Given the description of an element on the screen output the (x, y) to click on. 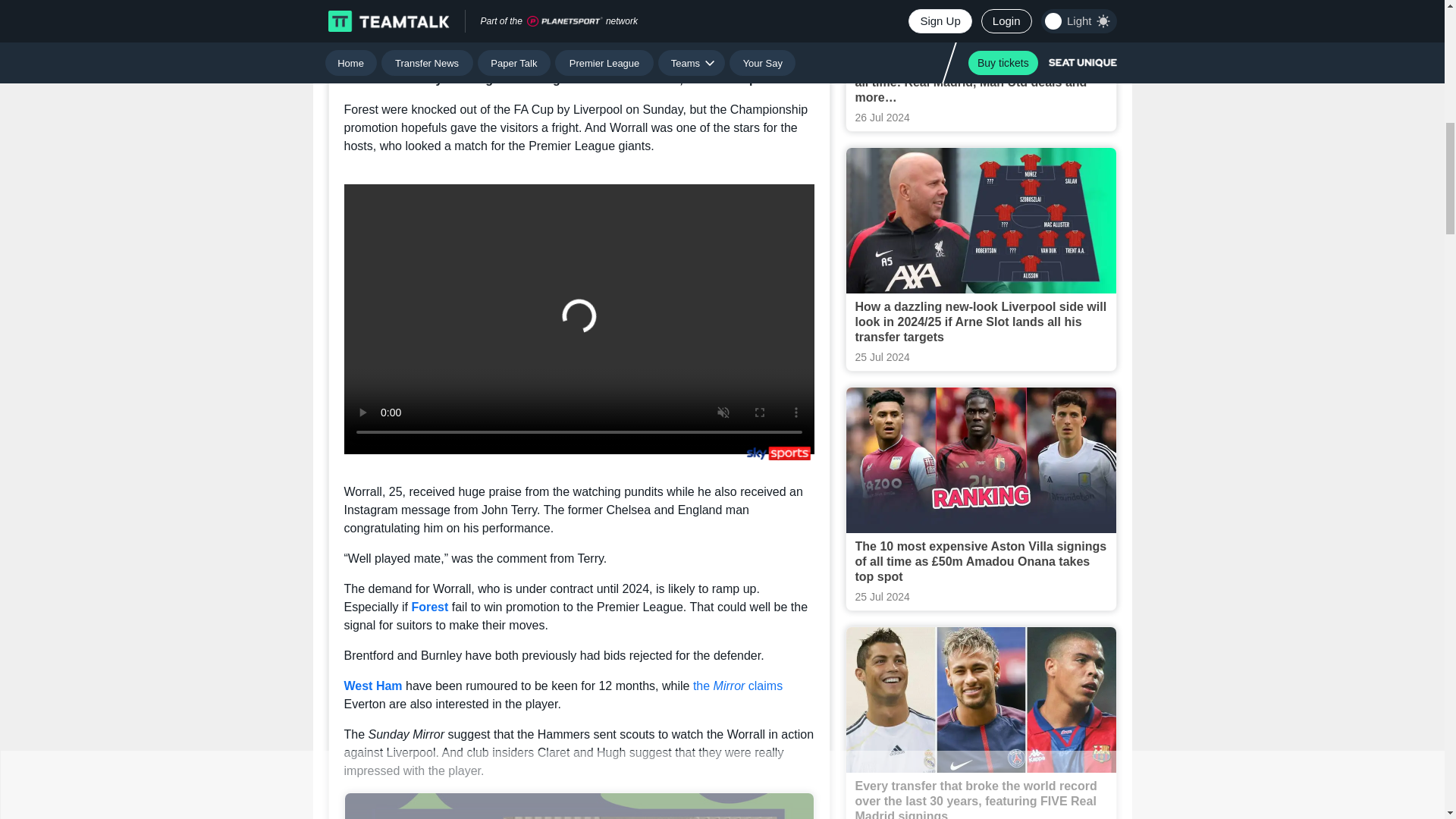
Roberto Firmino Joe Worrall March 2022 (579, 20)
